Given the description of an element on the screen output the (x, y) to click on. 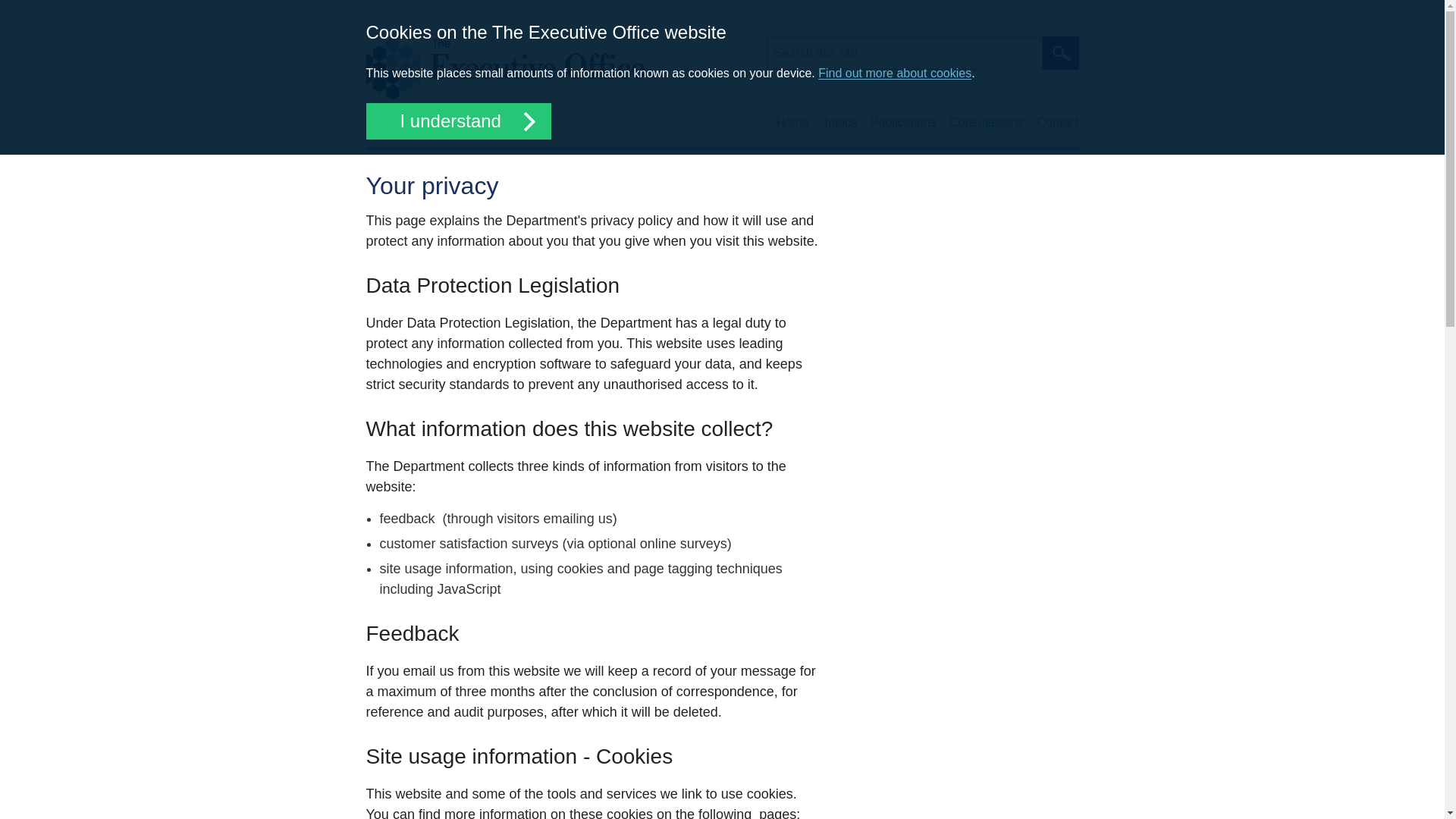
Search (1060, 52)
Home (504, 67)
Search (1060, 52)
Topics (839, 122)
Consultations (986, 122)
Home (792, 122)
Contact (1057, 122)
Find out more about cookies (894, 72)
Enter the terms you wish to search for (904, 52)
Publications (903, 122)
